Given the description of an element on the screen output the (x, y) to click on. 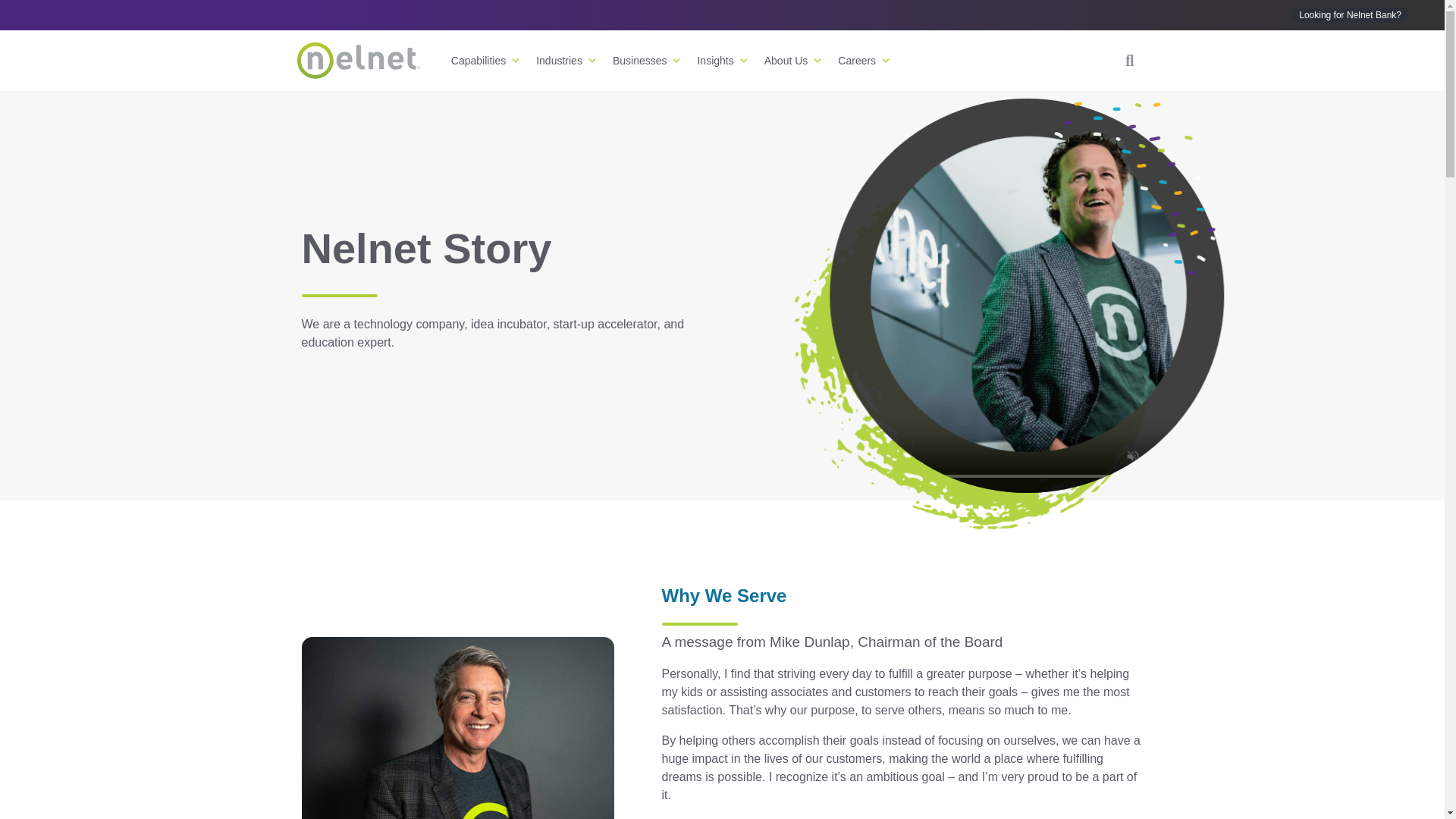
Capabilities (486, 60)
Looking for Nelnet Bank? (1349, 14)
